Given the description of an element on the screen output the (x, y) to click on. 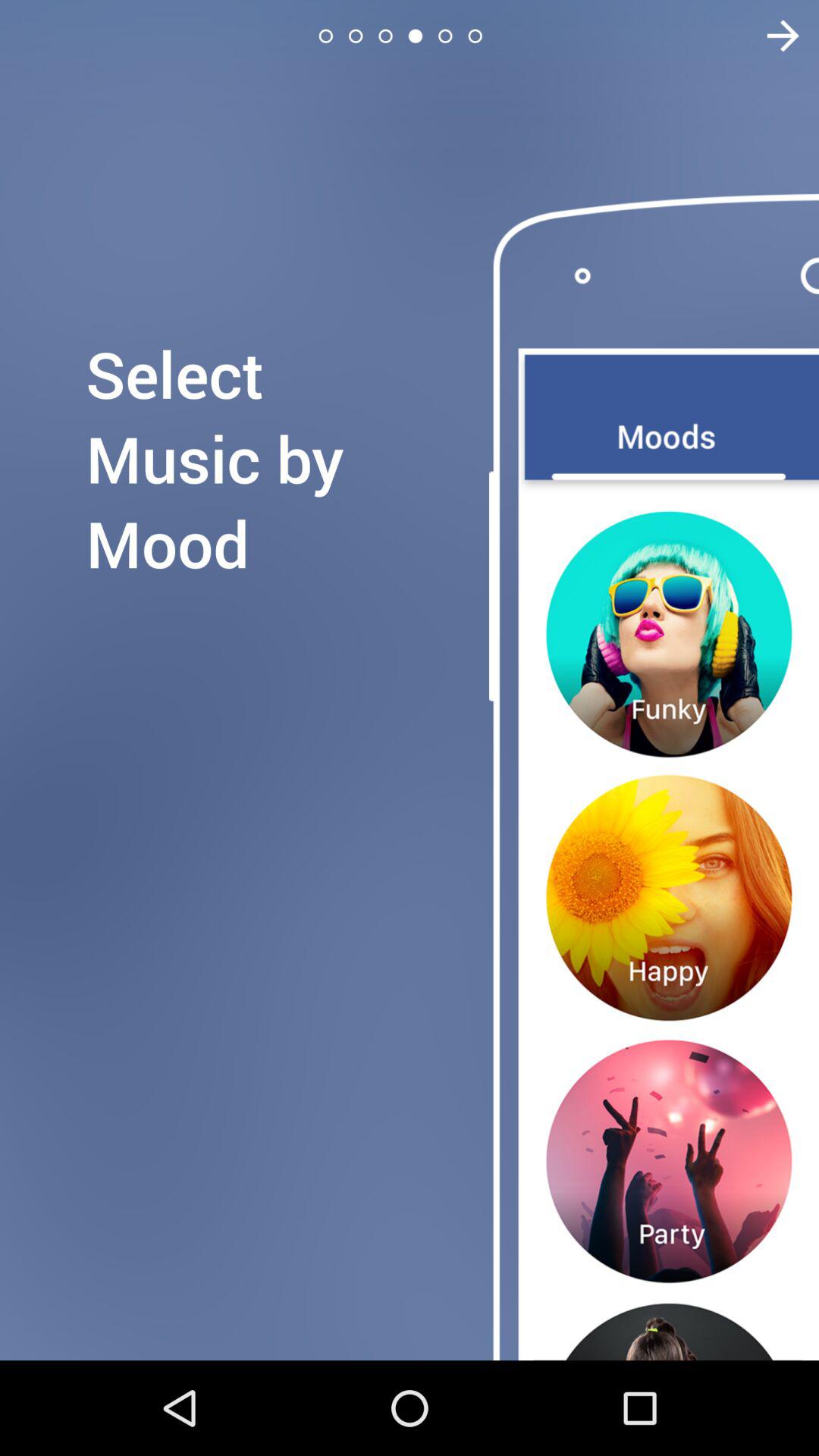
for next (773, 35)
